Given the description of an element on the screen output the (x, y) to click on. 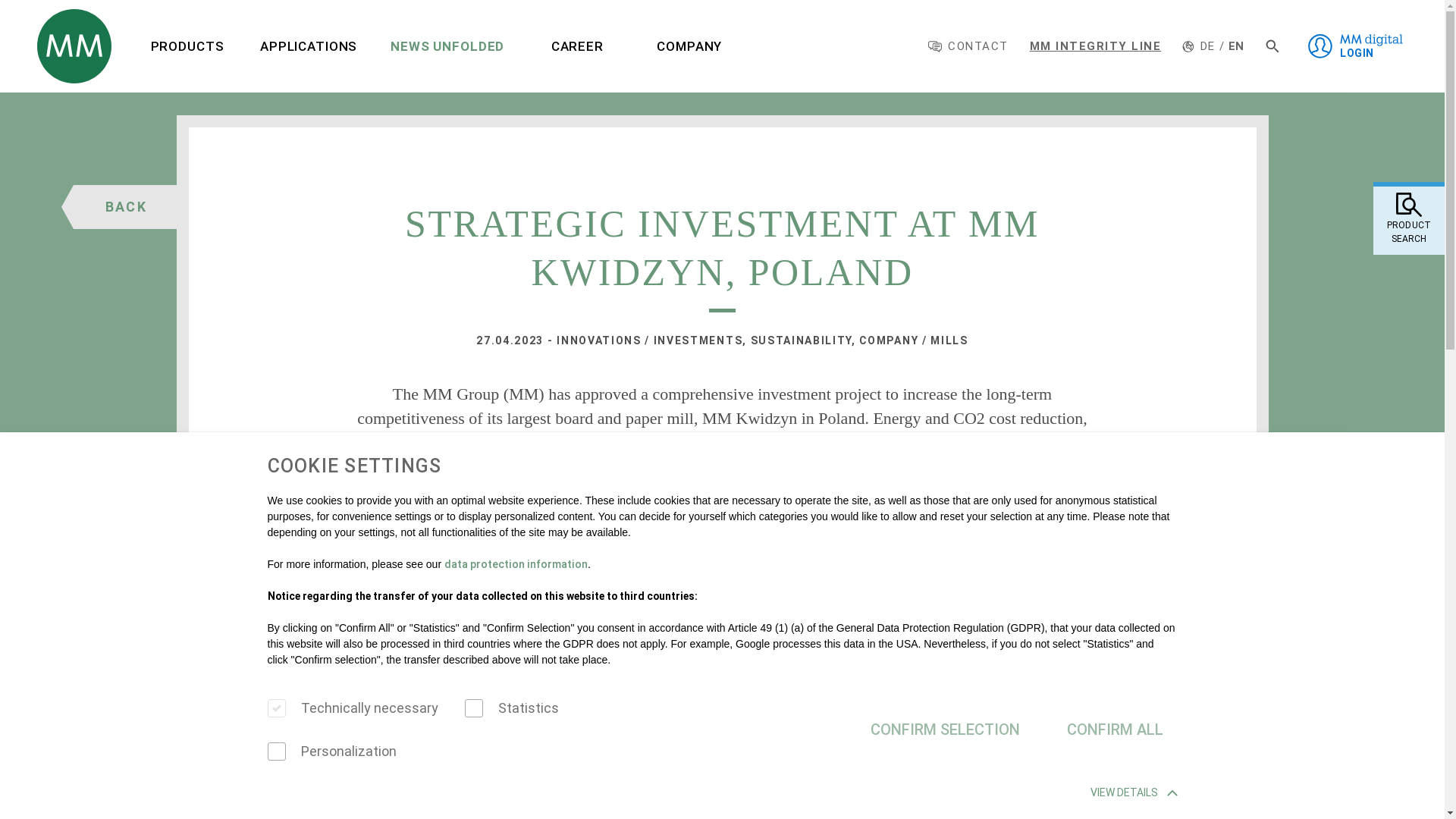
CONFIRM ALL (1114, 729)
APPLICATIONS (308, 46)
NEWS UNFOLDED (447, 46)
CONTACT (968, 46)
COMPANY (689, 46)
LOGIN (1354, 45)
CAREER (576, 46)
CONFIRM SELECTION (944, 729)
BACK (129, 207)
data protection information (516, 563)
VIEW DETAILS (1133, 792)
PRODUCTS (186, 46)
MM INTEGRITY LINE (1095, 46)
